Given the description of an element on the screen output the (x, y) to click on. 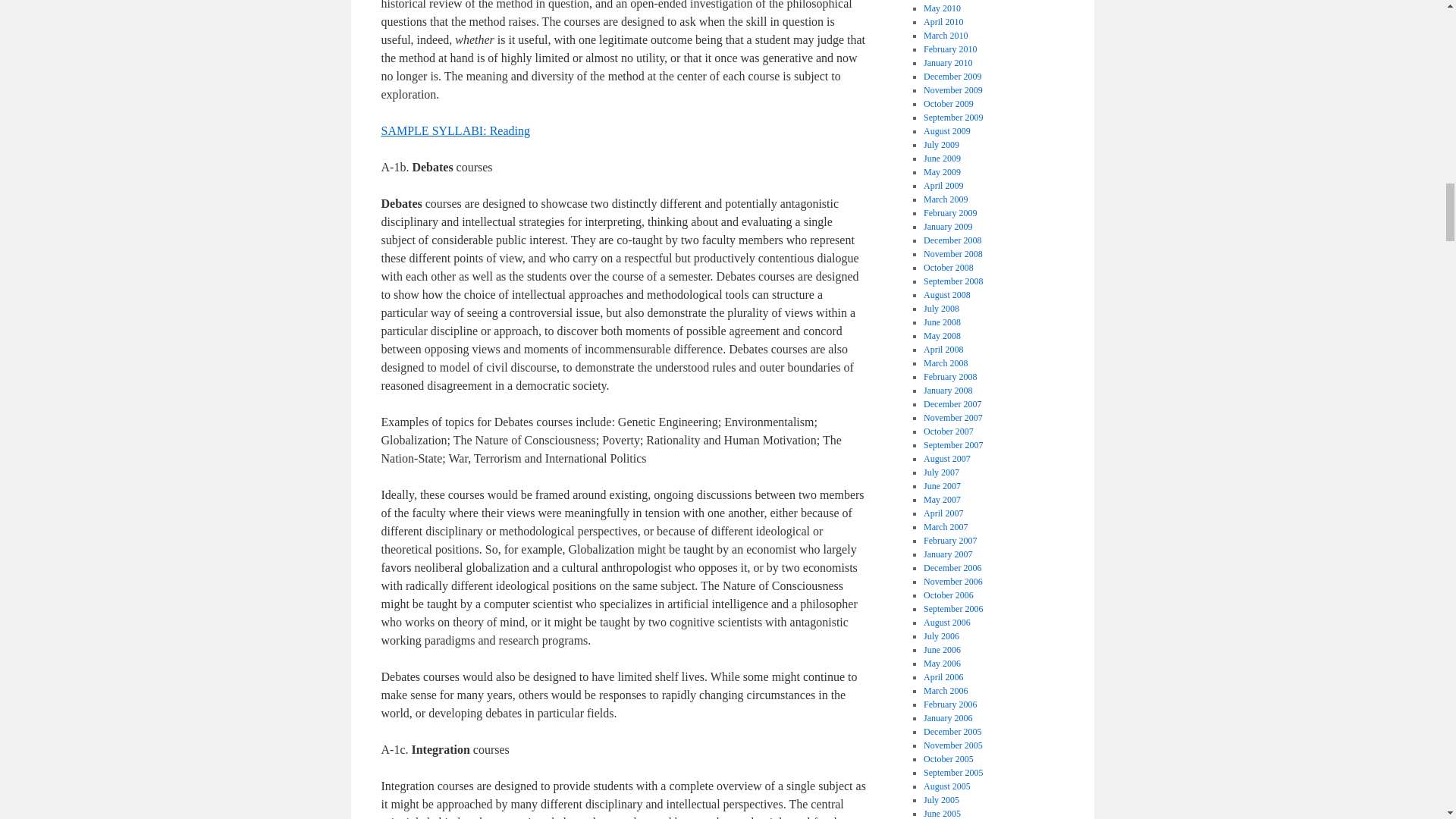
SAMPLE SYLLABI: Reading (454, 130)
